Given the description of an element on the screen output the (x, y) to click on. 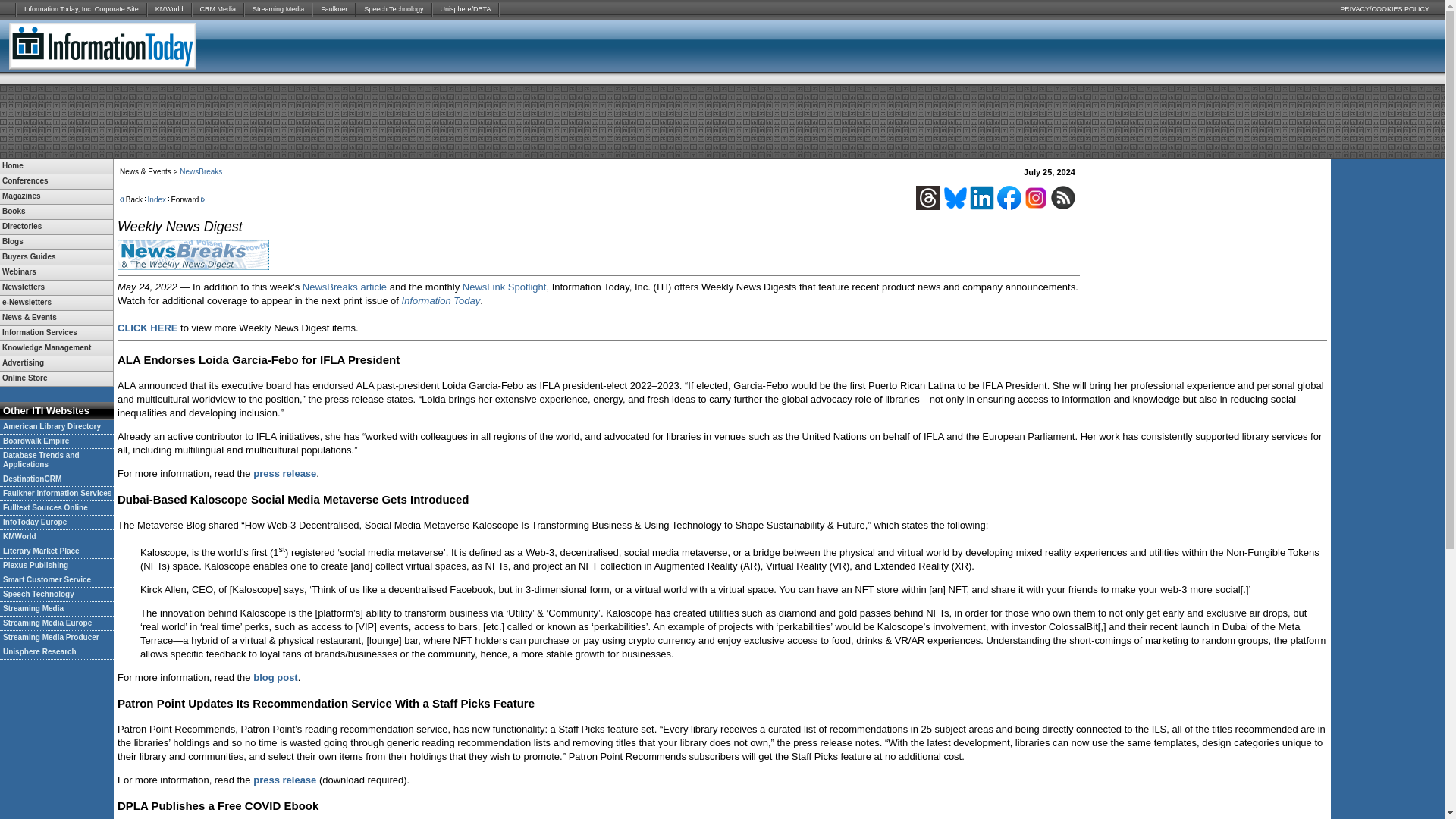
KMWorld (169, 9)
Conferences (56, 181)
Speech Technology (393, 9)
Information Today, Inc. Corporate Site (81, 9)
3rd party ad content (1263, 45)
3rd party ad content (721, 120)
Magazines (56, 196)
Home (56, 165)
Streaming Media (277, 9)
3rd party ad content (1387, 400)
CRM Media (218, 9)
Faulkner (334, 9)
